Given the description of an element on the screen output the (x, y) to click on. 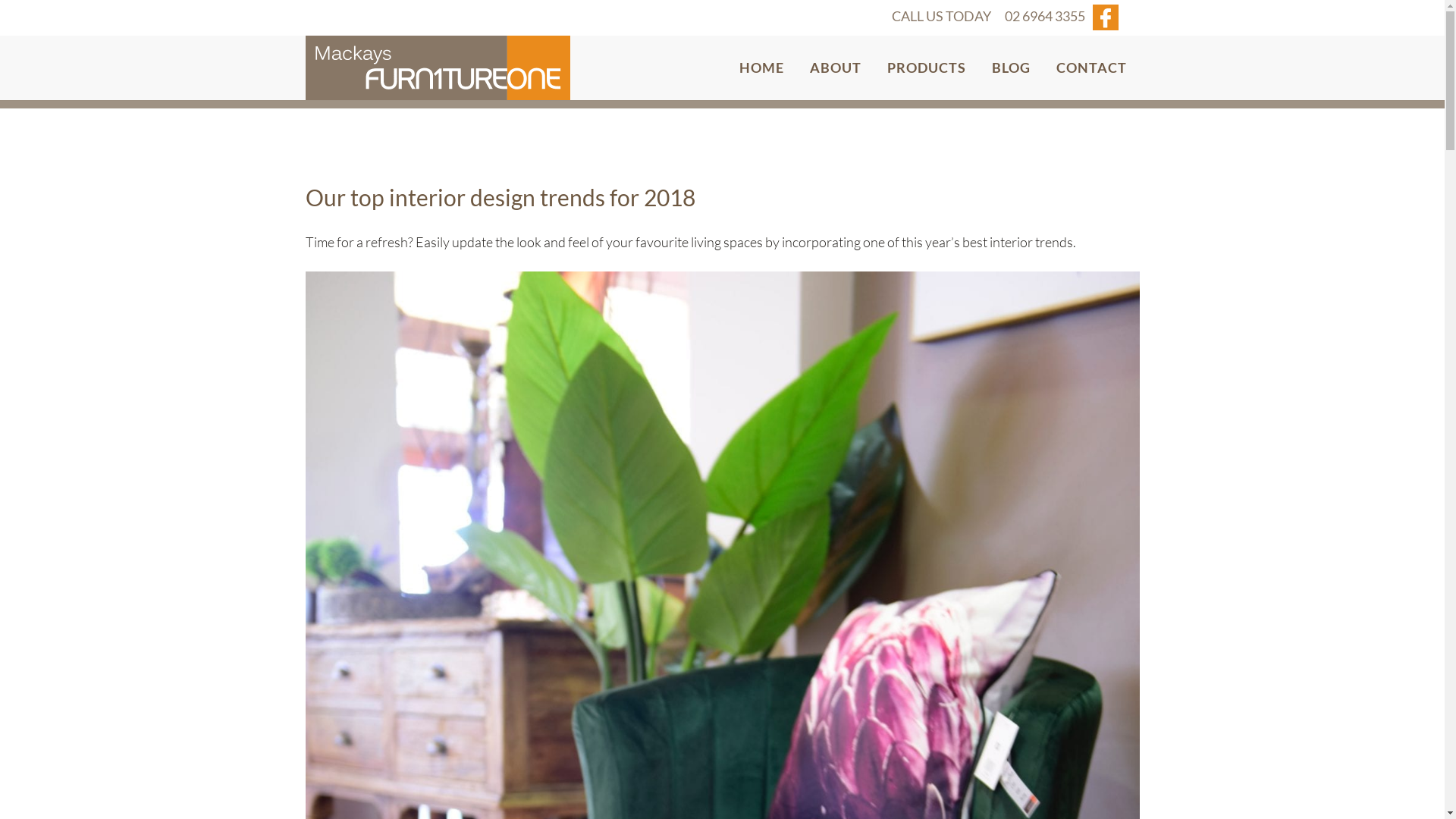
PRODUCTS Element type: text (925, 67)
ABOUT Element type: text (834, 67)
BLOG Element type: text (1010, 67)
  Element type: text (1106, 24)
CONTACT Element type: text (1091, 67)
HOME Element type: text (761, 67)
